Given the description of an element on the screen output the (x, y) to click on. 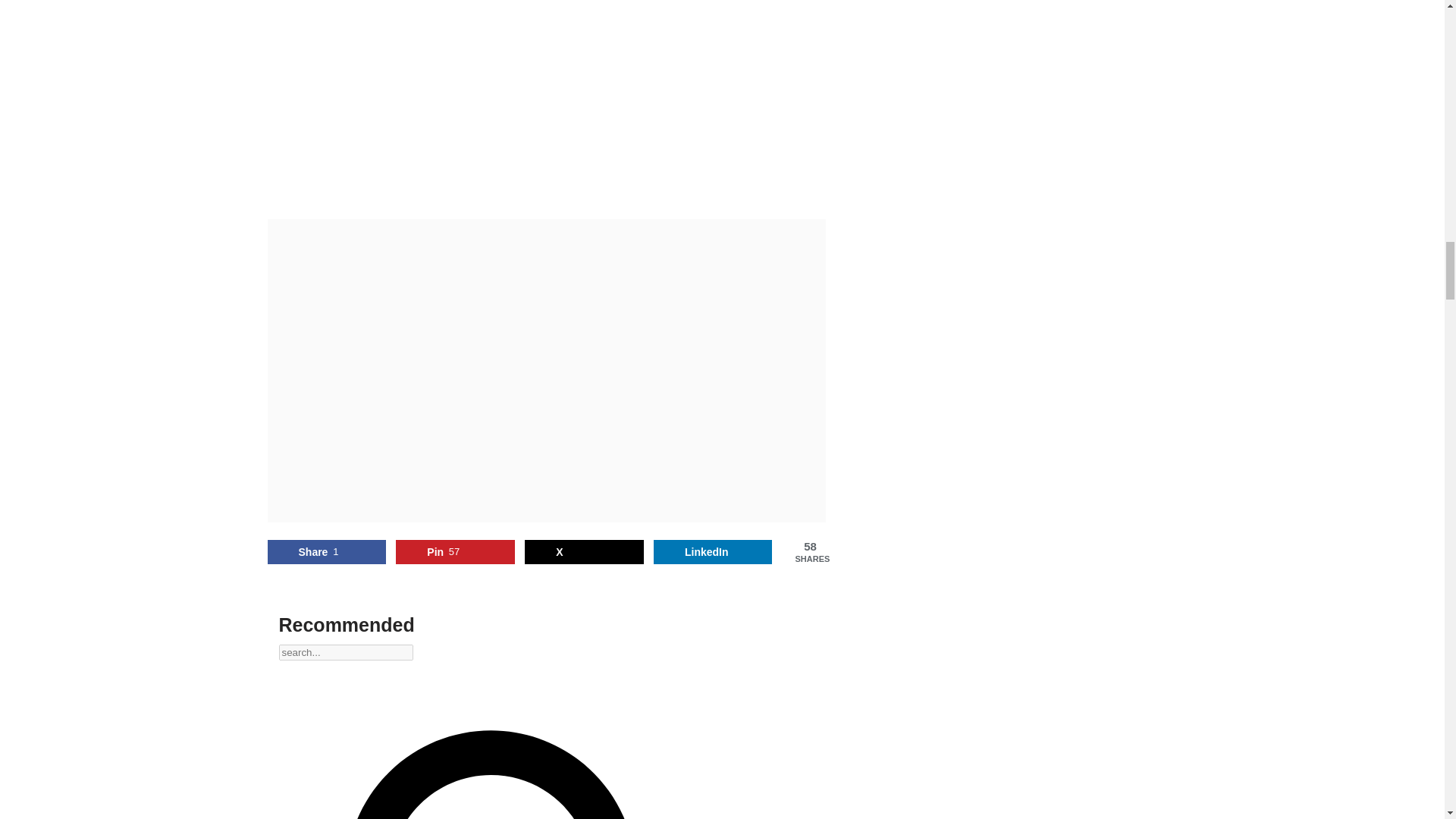
LinkedIn (455, 551)
Share on X (713, 551)
Save to Pinterest (583, 551)
X (455, 551)
Share on Facebook (325, 551)
Share on LinkedIn (583, 551)
